Given the description of an element on the screen output the (x, y) to click on. 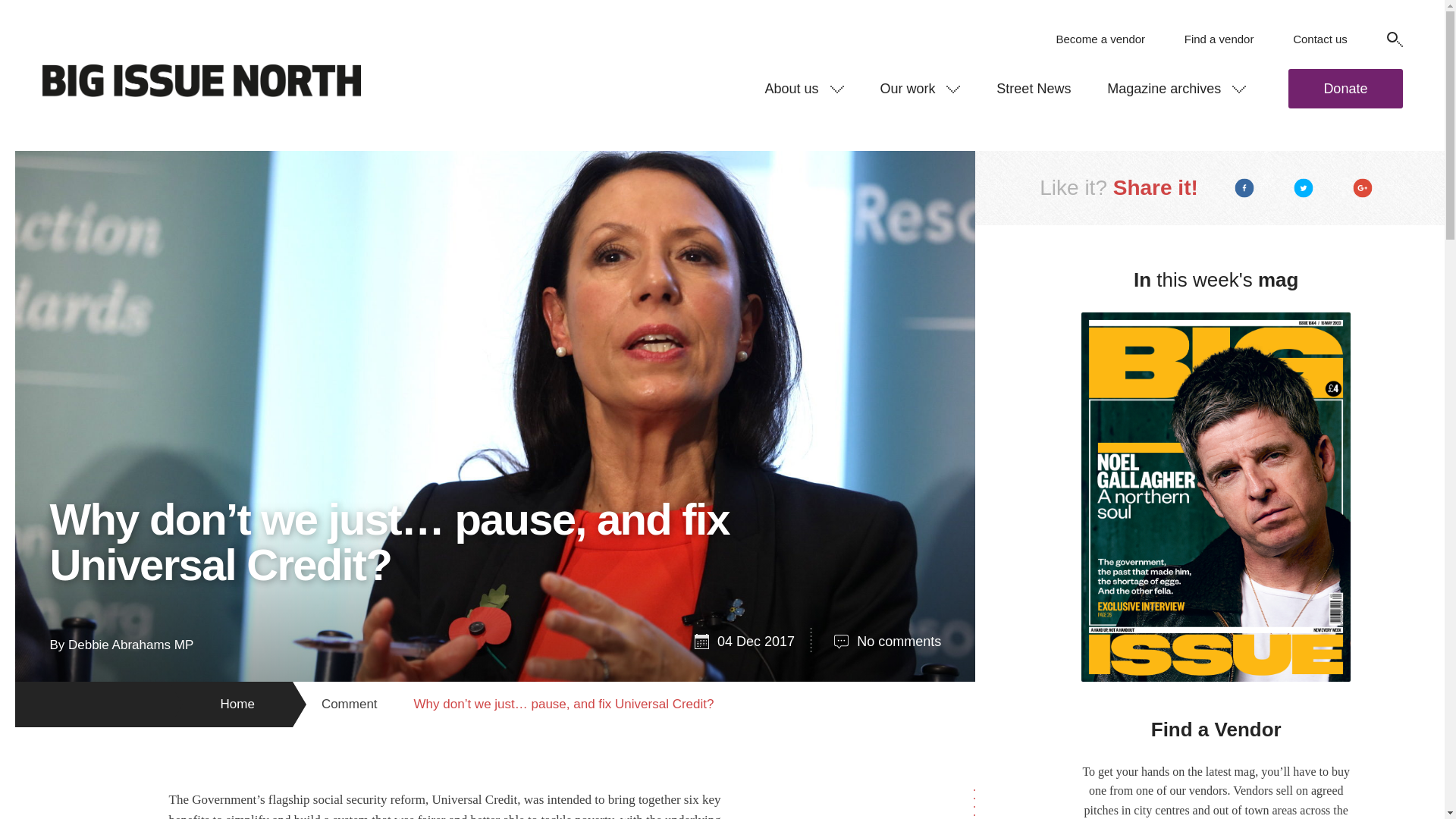
Our work (919, 88)
Become a vendor (1099, 38)
About us (803, 88)
Share on Facebook (1244, 187)
Share on Google Plus (1362, 187)
Share on Twitter (1303, 187)
Search Big Issue North (1394, 38)
Find a vendor (1219, 38)
Donate with JustGiving (1345, 88)
Contact us (1320, 38)
